Given the description of an element on the screen output the (x, y) to click on. 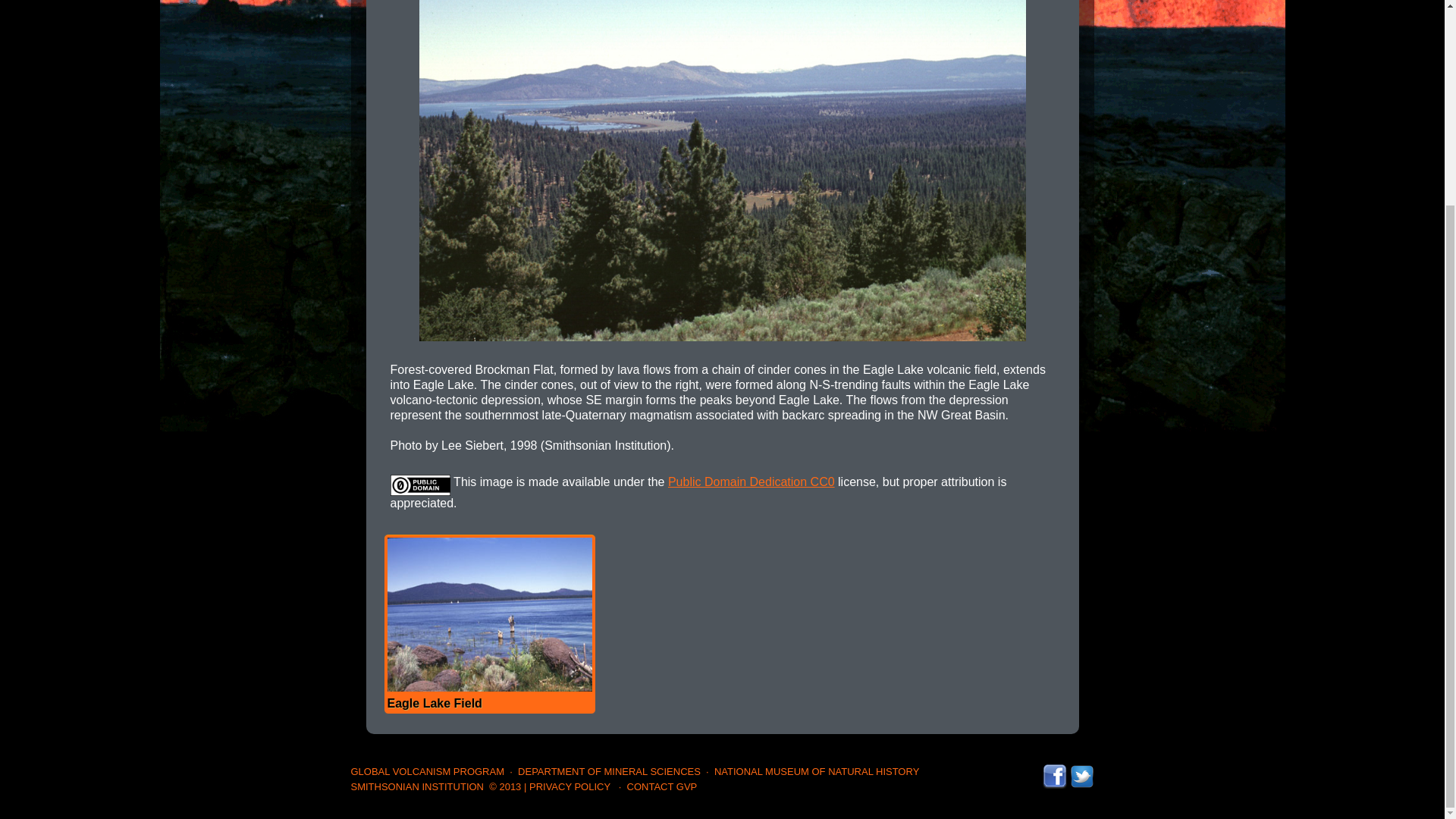
Facebook (1054, 771)
Eagle Lake Field (489, 624)
Link to Copyright Notice (505, 786)
Public Domain Dedication CC0 (751, 481)
Twitter (1080, 771)
Send email to GVP (662, 786)
Link to Privacy Notice (569, 786)
